Given the description of an element on the screen output the (x, y) to click on. 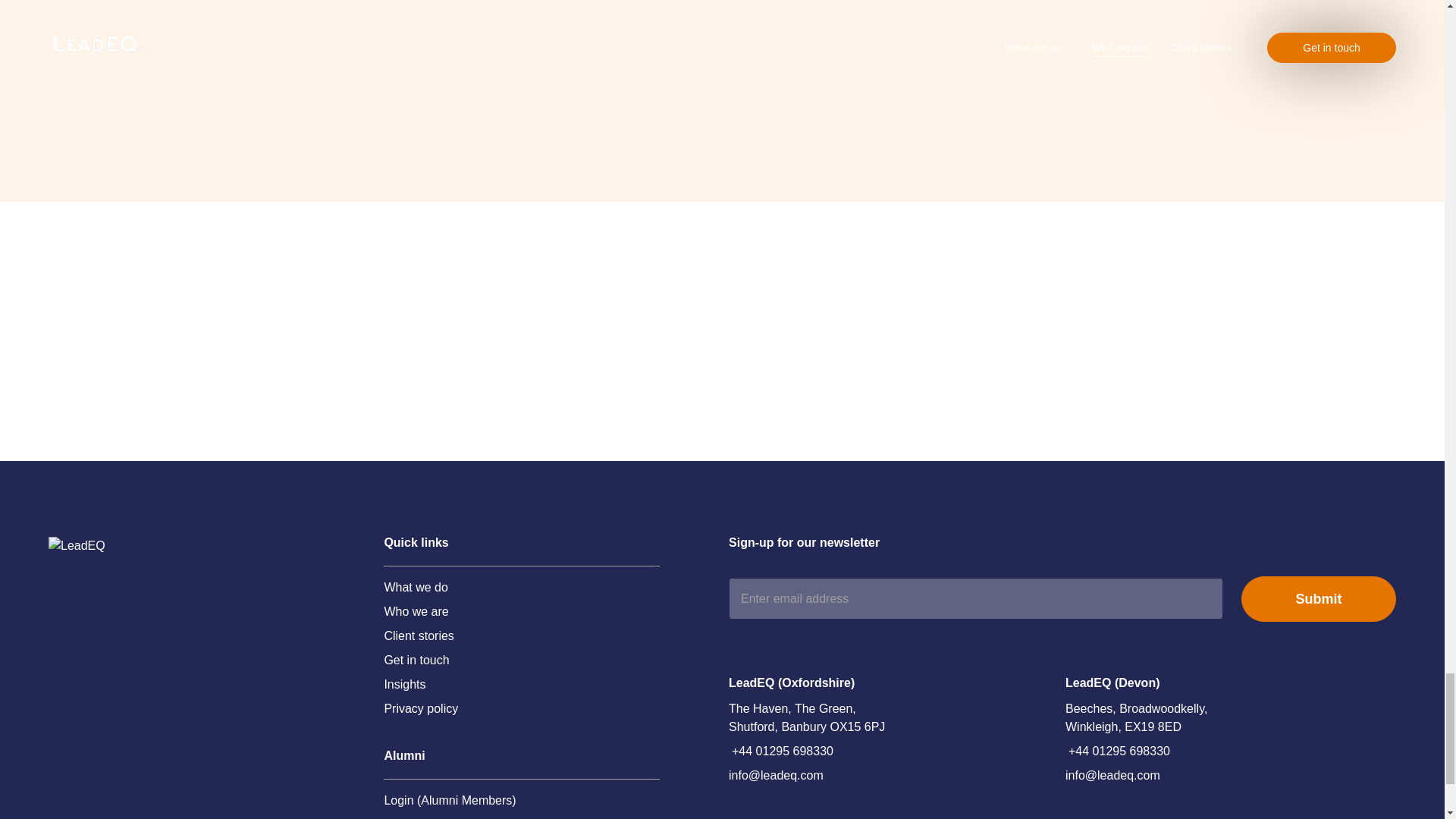
LeadEQ (144, 546)
Submit (1318, 598)
What we do (415, 587)
Privacy policy (421, 709)
Get in touch (416, 660)
Who we are (416, 611)
Insights (404, 684)
The Haven, The Green, Shutford, Banbury OX15 6PJ (814, 718)
Client stories (418, 636)
Submit (1318, 598)
